Given the description of an element on the screen output the (x, y) to click on. 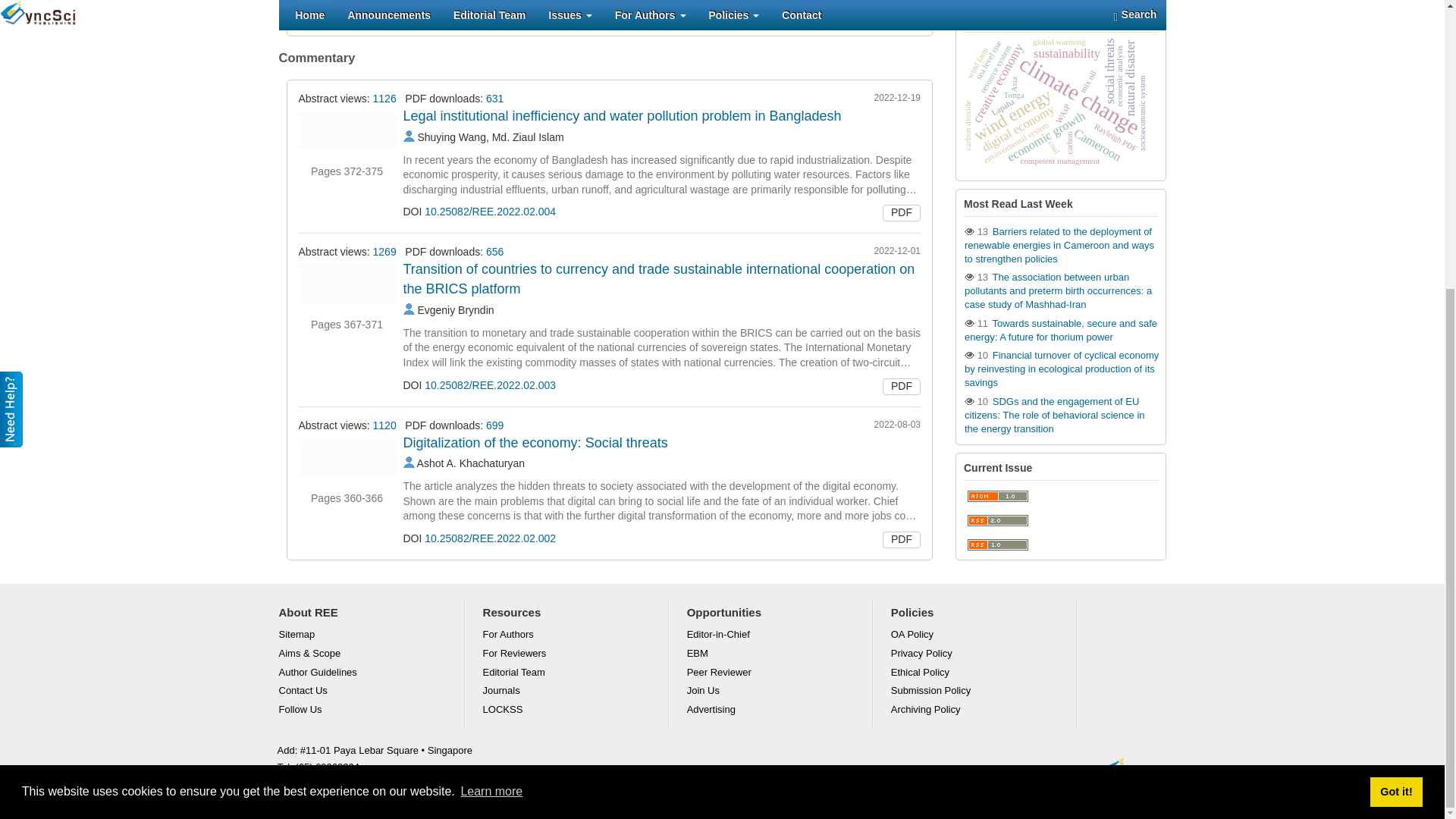
Permanent Archive (502, 708)
Contact Us (303, 690)
Got it! (1396, 354)
Peer Reviewer Application (719, 672)
PDF (901, 15)
View 'Journal Sitemap' (297, 633)
Editorial Team (513, 672)
Follow Us (300, 708)
Learn more (491, 354)
